Given the description of an element on the screen output the (x, y) to click on. 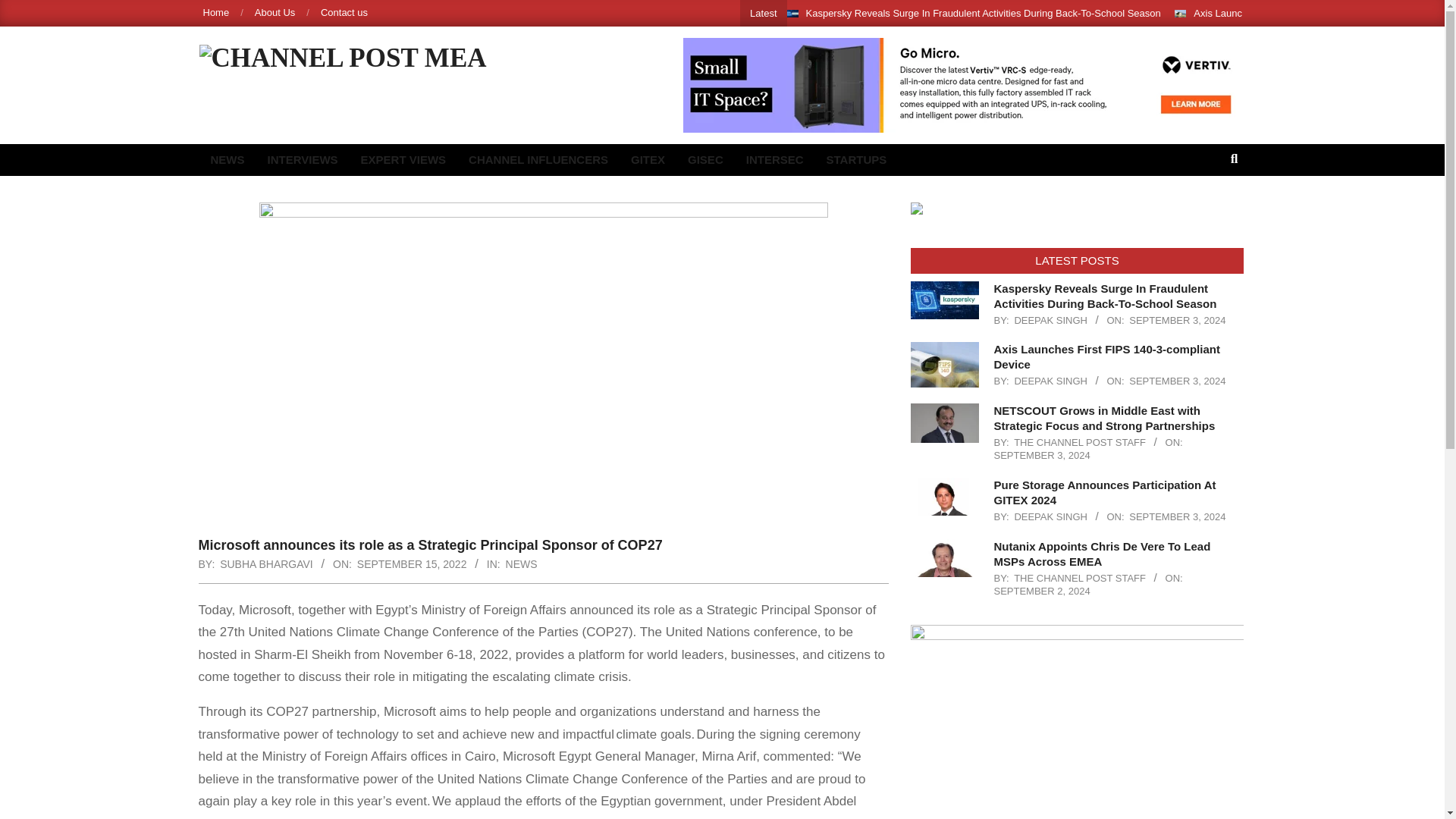
Search (24, 9)
Axis Launches First FIPS 140-3-compliant Device (1301, 12)
Thursday, September 15, 2022, 5:24 pm (411, 563)
NEWS (227, 160)
EXPERT VIEWS (403, 160)
Tuesday, September 3, 2024, 1:48 pm (1177, 319)
Tuesday, September 3, 2024, 11:27 am (1177, 516)
INTERVIEWS (302, 160)
Tuesday, September 3, 2024, 1:26 pm (1177, 380)
